Given the description of an element on the screen output the (x, y) to click on. 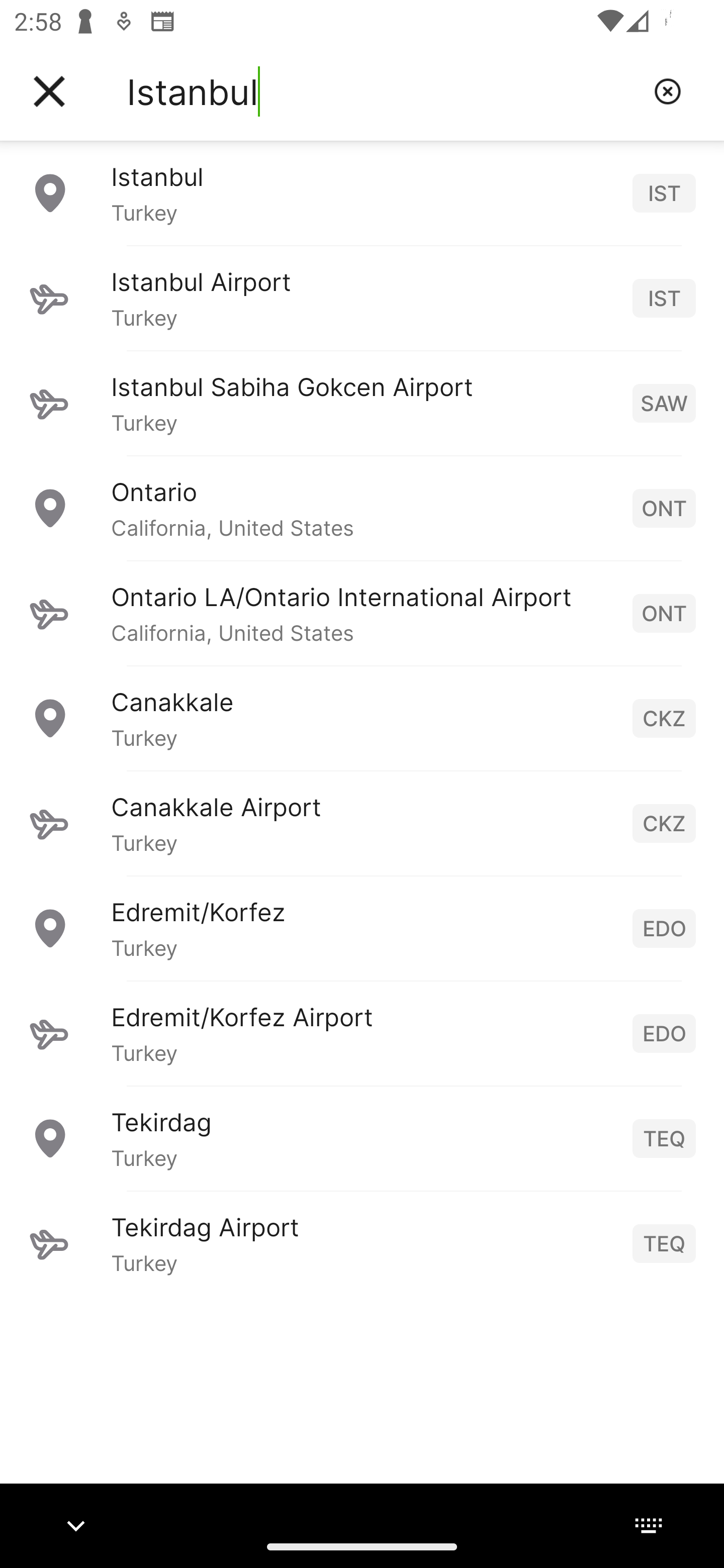
Istanbul (382, 91)
Istanbul Turkey IST (362, 192)
Istanbul Airport Turkey IST (362, 297)
Istanbul Sabiha Gokcen Airport Turkey SAW (362, 402)
Ontario California, United States ONT (362, 507)
Canakkale Turkey CKZ (362, 717)
Canakkale Airport Turkey CKZ (362, 822)
Edremit/Korfez Turkey EDO (362, 928)
Edremit/Korfez Airport Turkey EDO (362, 1033)
Tekirdag Turkey TEQ (362, 1138)
Tekirdag Airport Turkey TEQ (362, 1243)
